Given the description of an element on the screen output the (x, y) to click on. 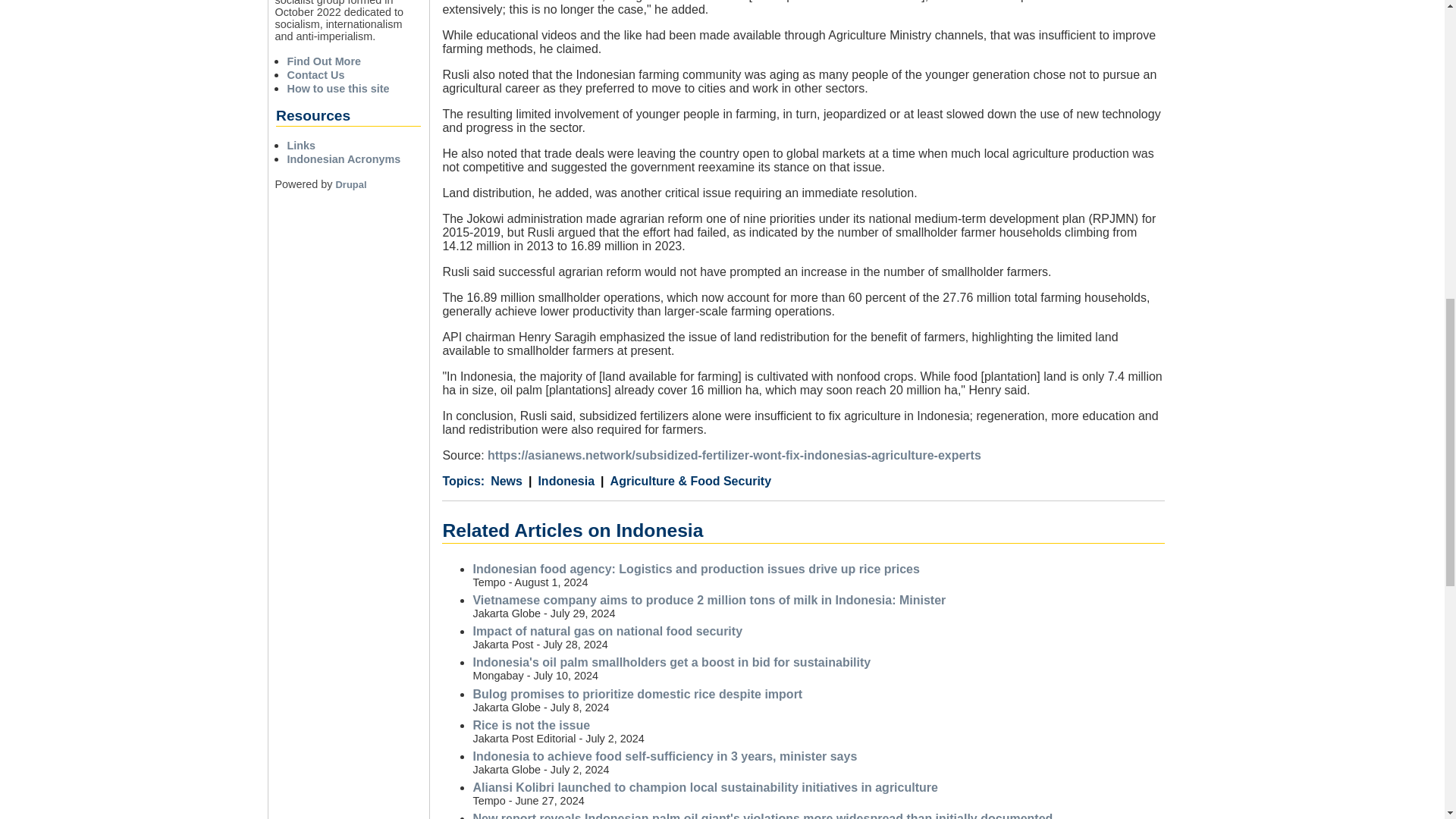
News (506, 481)
Indonesia (561, 481)
Bulog promises to prioritize domestic rice despite import (636, 694)
Rice is not the issue (530, 725)
